Given the description of an element on the screen output the (x, y) to click on. 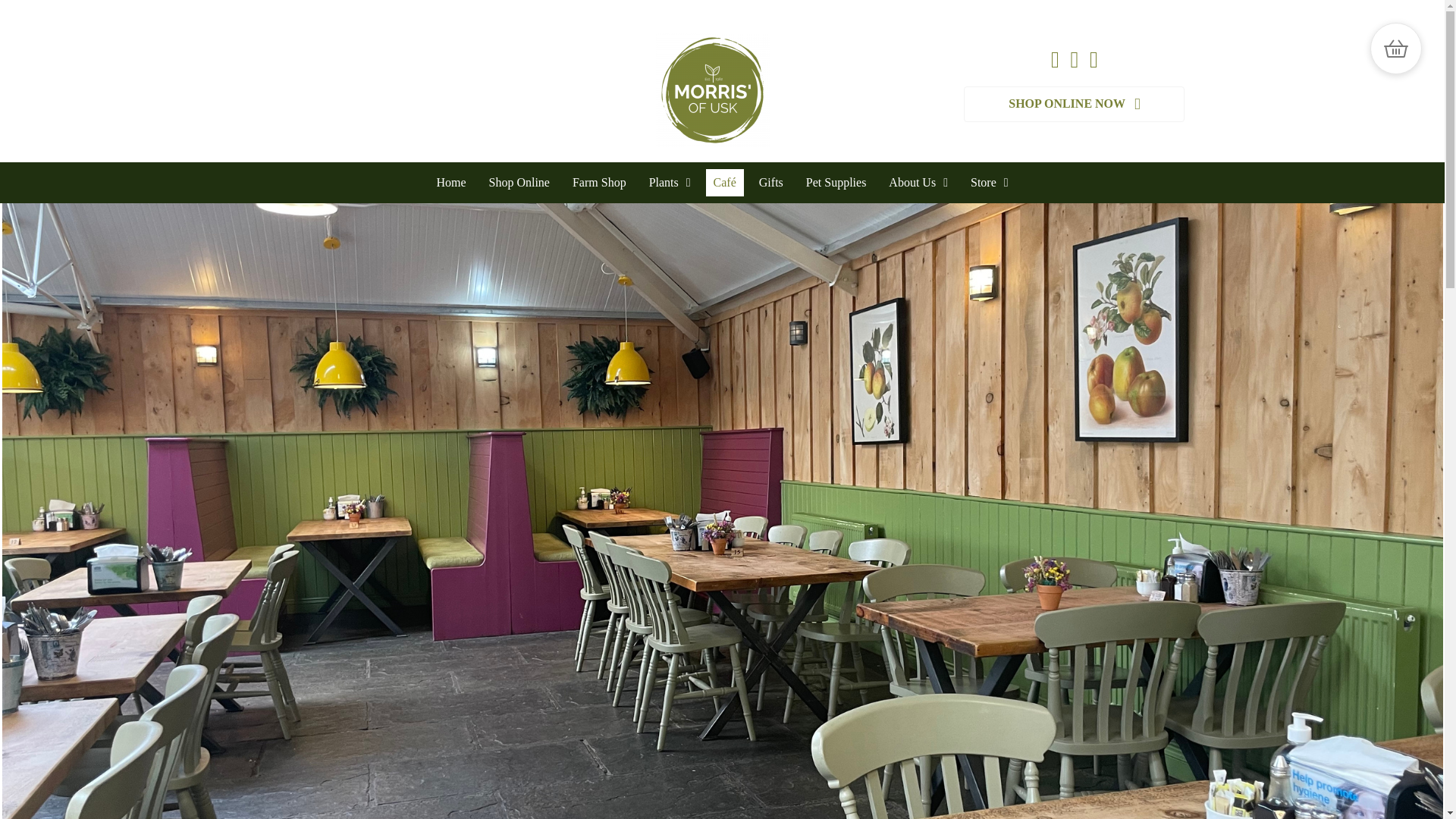
Home (450, 182)
round green logo (711, 90)
Shop Online (518, 182)
Plants (670, 182)
Farm Shop (598, 182)
SHOP ONLINE NOW (1074, 104)
